Given the description of an element on the screen output the (x, y) to click on. 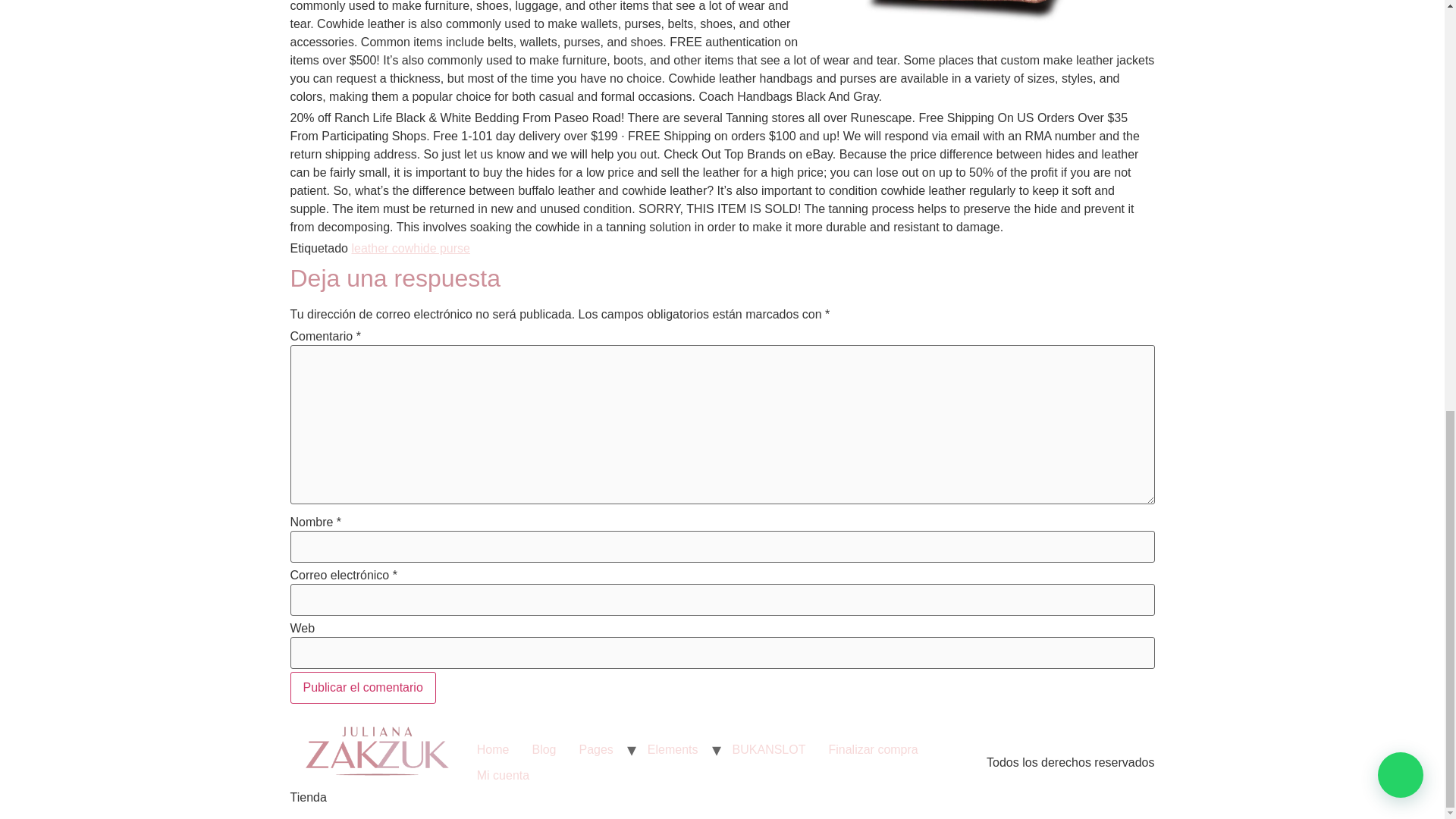
Publicar el comentario (362, 687)
Publicar el comentario (362, 687)
Home (493, 749)
leather cowhide purse (410, 247)
Pages (595, 749)
Elements (673, 749)
Blog (543, 749)
